Given the description of an element on the screen output the (x, y) to click on. 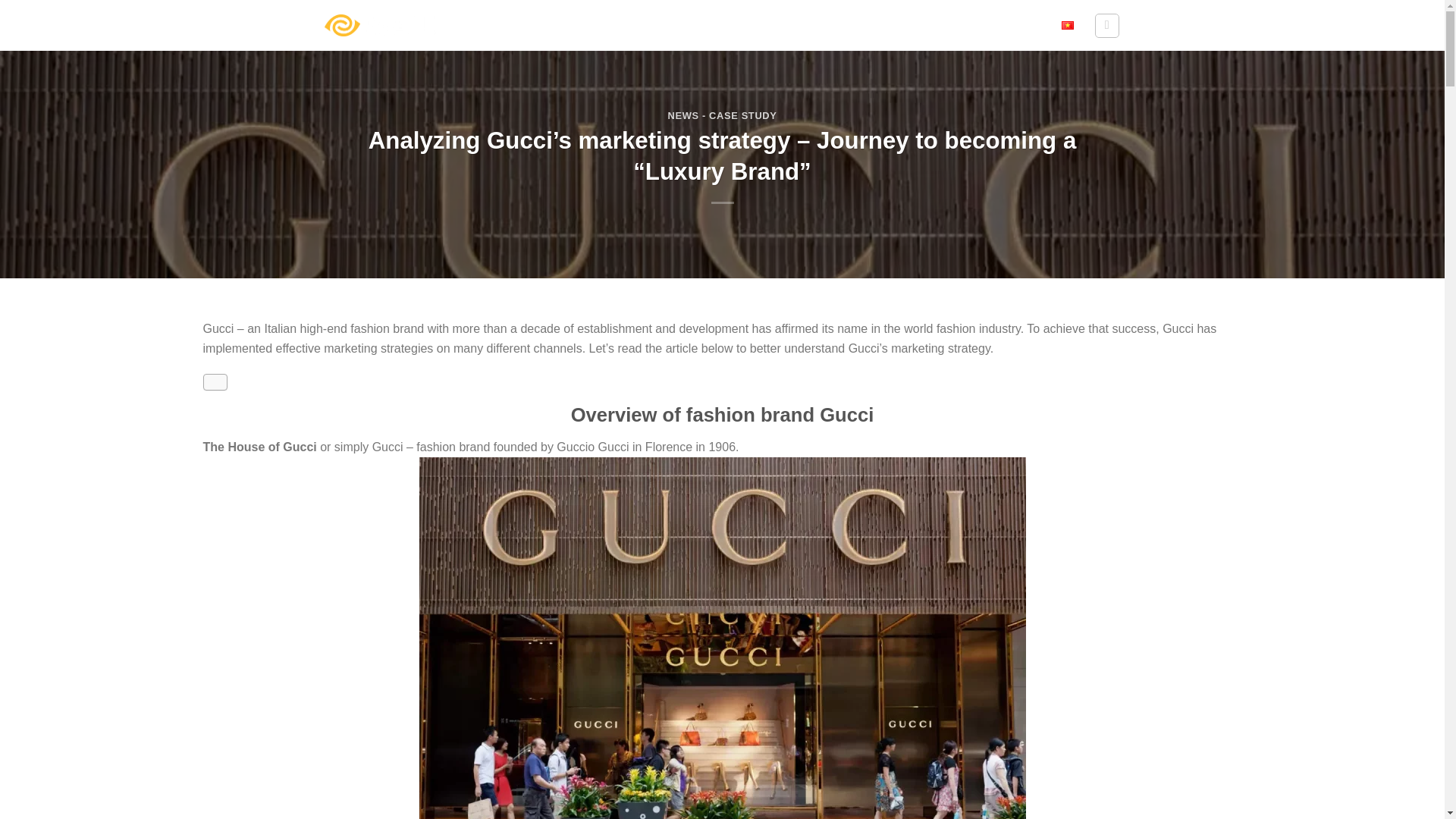
ABOUT (736, 25)
CONTACT (1018, 25)
NEWS - CASE STUDY (721, 115)
SERVICES (799, 25)
WORK (860, 25)
BLOG (913, 25)
JOIN (962, 25)
